Given the description of an element on the screen output the (x, y) to click on. 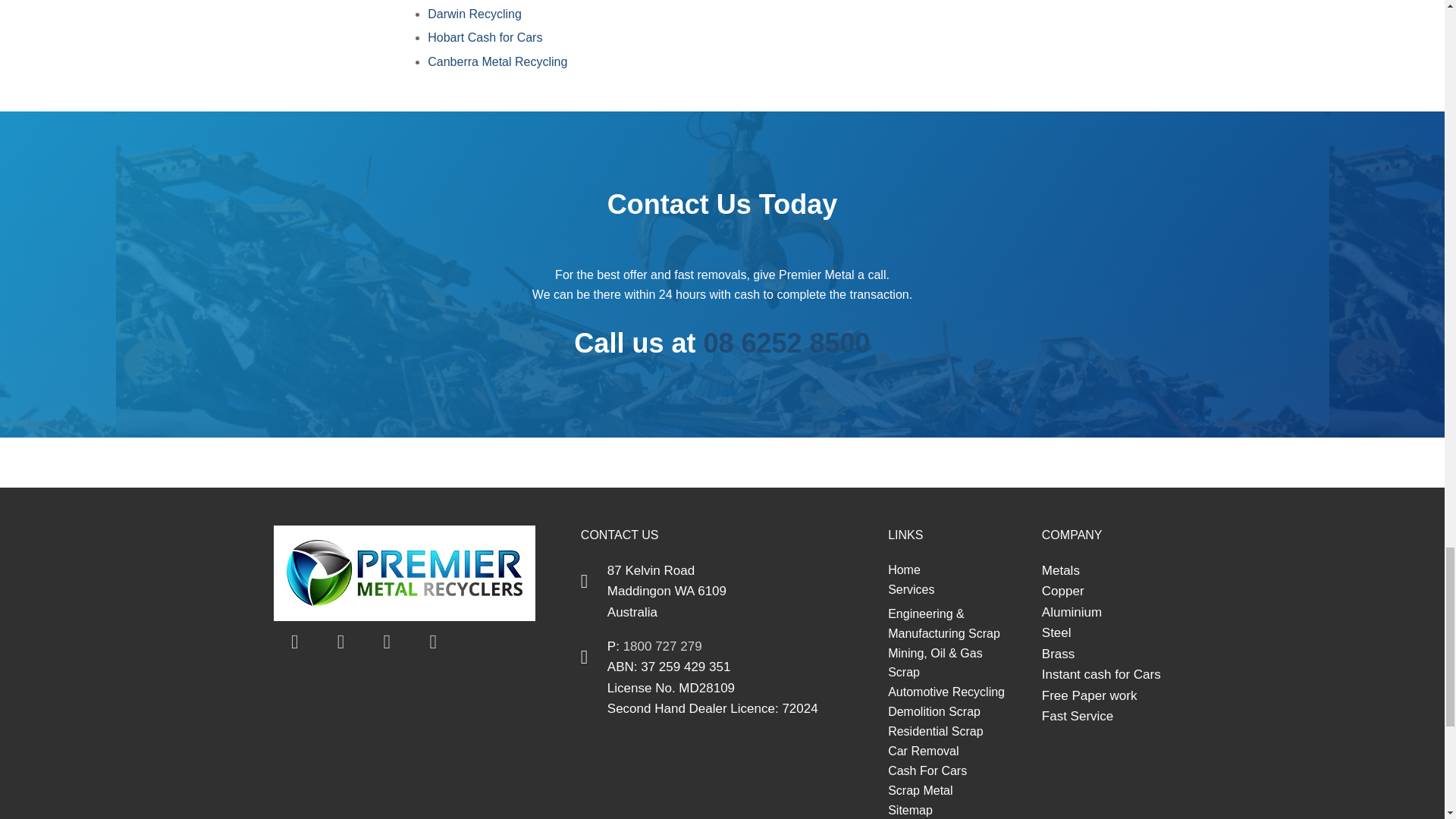
Twitter (340, 641)
linkedin (386, 641)
Facebook (294, 641)
Instagram (432, 641)
